Given the description of an element on the screen output the (x, y) to click on. 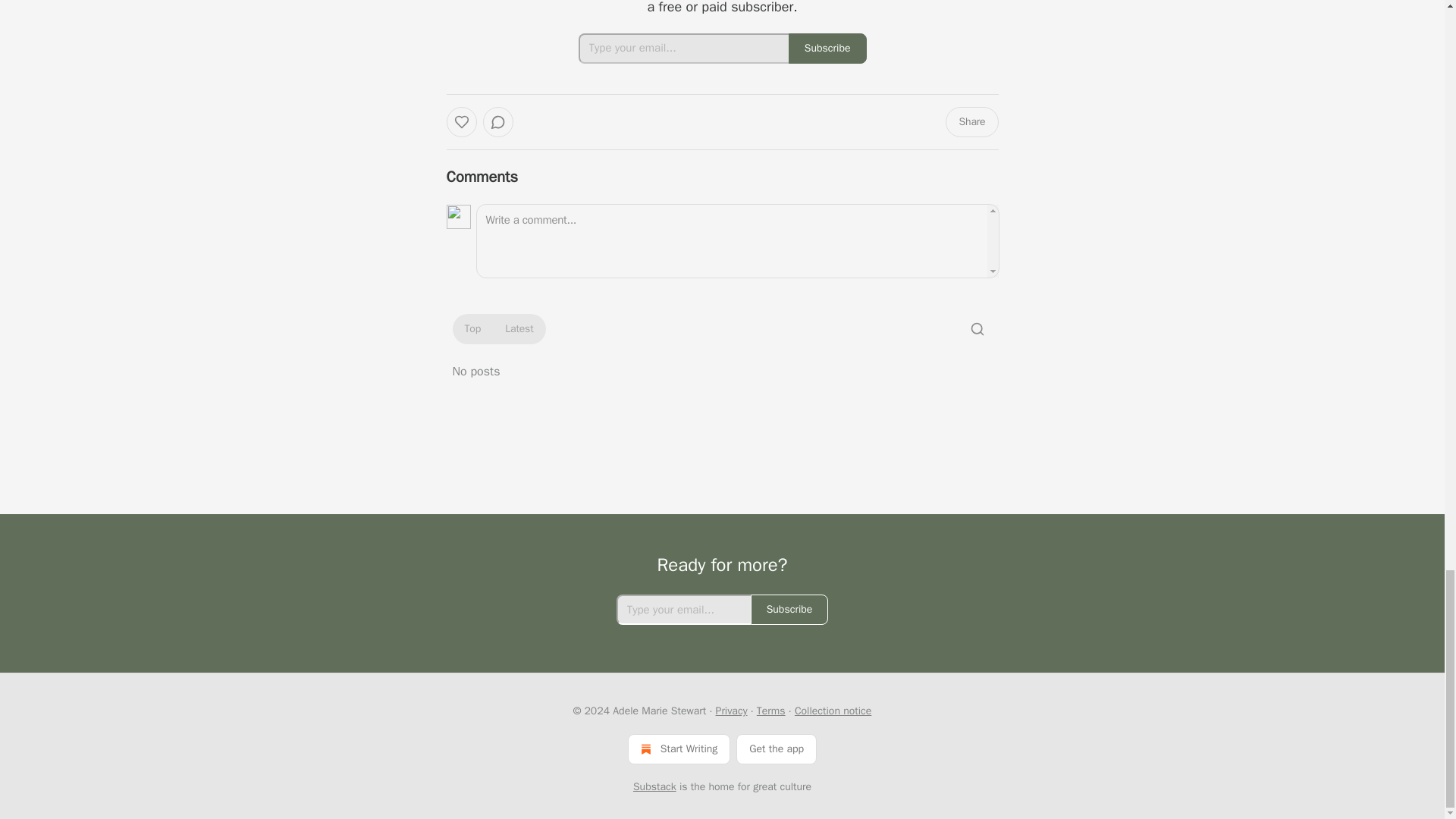
Share (970, 122)
Latest (518, 328)
Top (471, 328)
Subscribe (827, 48)
Subscribe (789, 609)
